Given the description of an element on the screen output the (x, y) to click on. 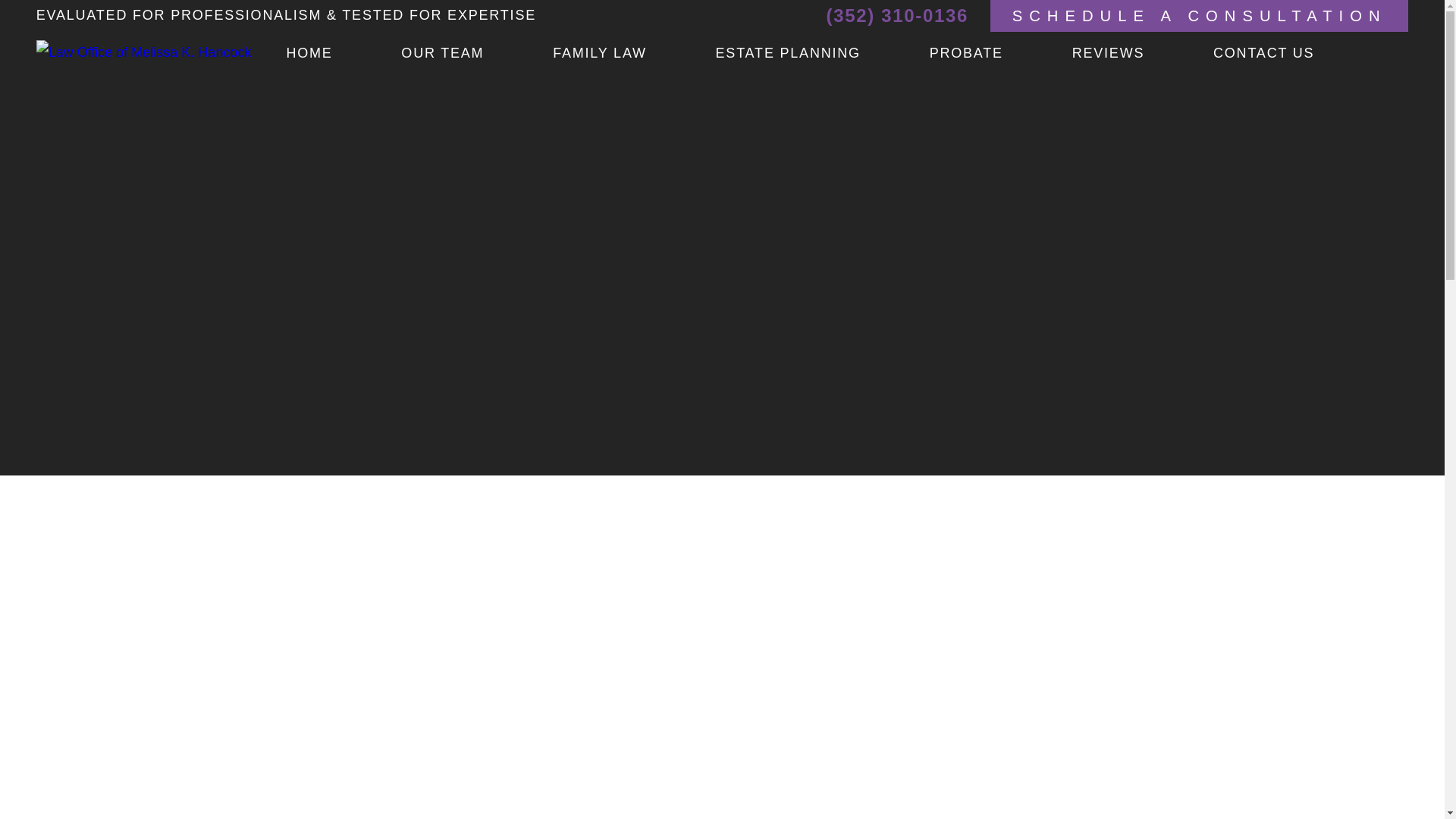
SCHEDULE A CONSULTATION (1199, 15)
OUR TEAM (477, 53)
Search our site (1395, 53)
ESTATE PLANNING (823, 53)
Law Office of Melissa K. Hancock (143, 52)
Open the accessibility options menu (1423, 798)
FAMILY LAW (633, 53)
CONTACT US (1297, 53)
REVIEWS (1141, 53)
HOME (343, 53)
PROBATE (1000, 53)
